Given the description of an element on the screen output the (x, y) to click on. 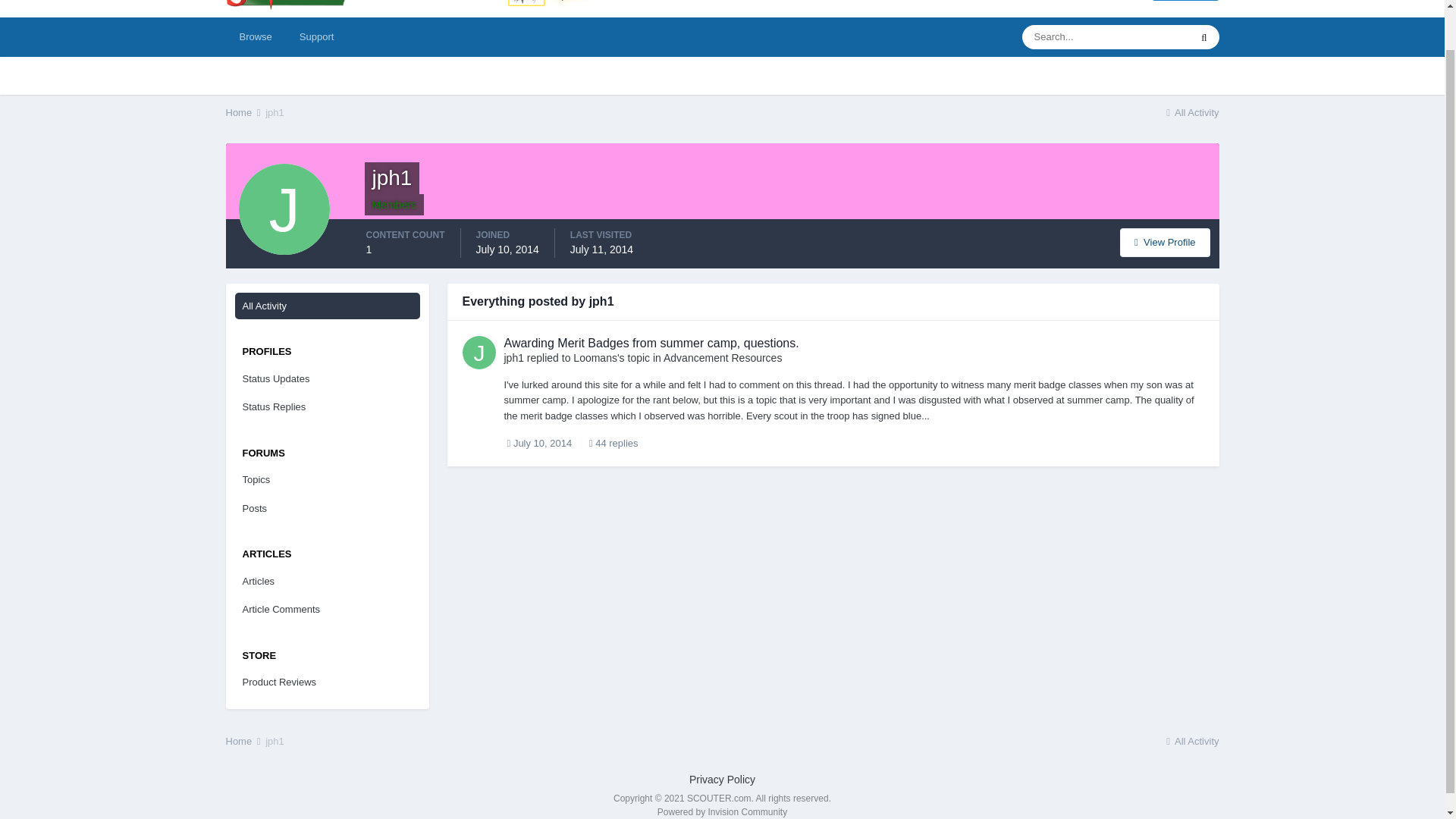
Product Reviews (327, 682)
Go to Loomans's profile (595, 357)
jph1's Profile (1164, 242)
All Activity (327, 305)
Articles (327, 581)
Status Replies (327, 406)
Go to jph1's profile (479, 352)
Support (316, 36)
Home (244, 740)
jph1 (273, 112)
